Given the description of an element on the screen output the (x, y) to click on. 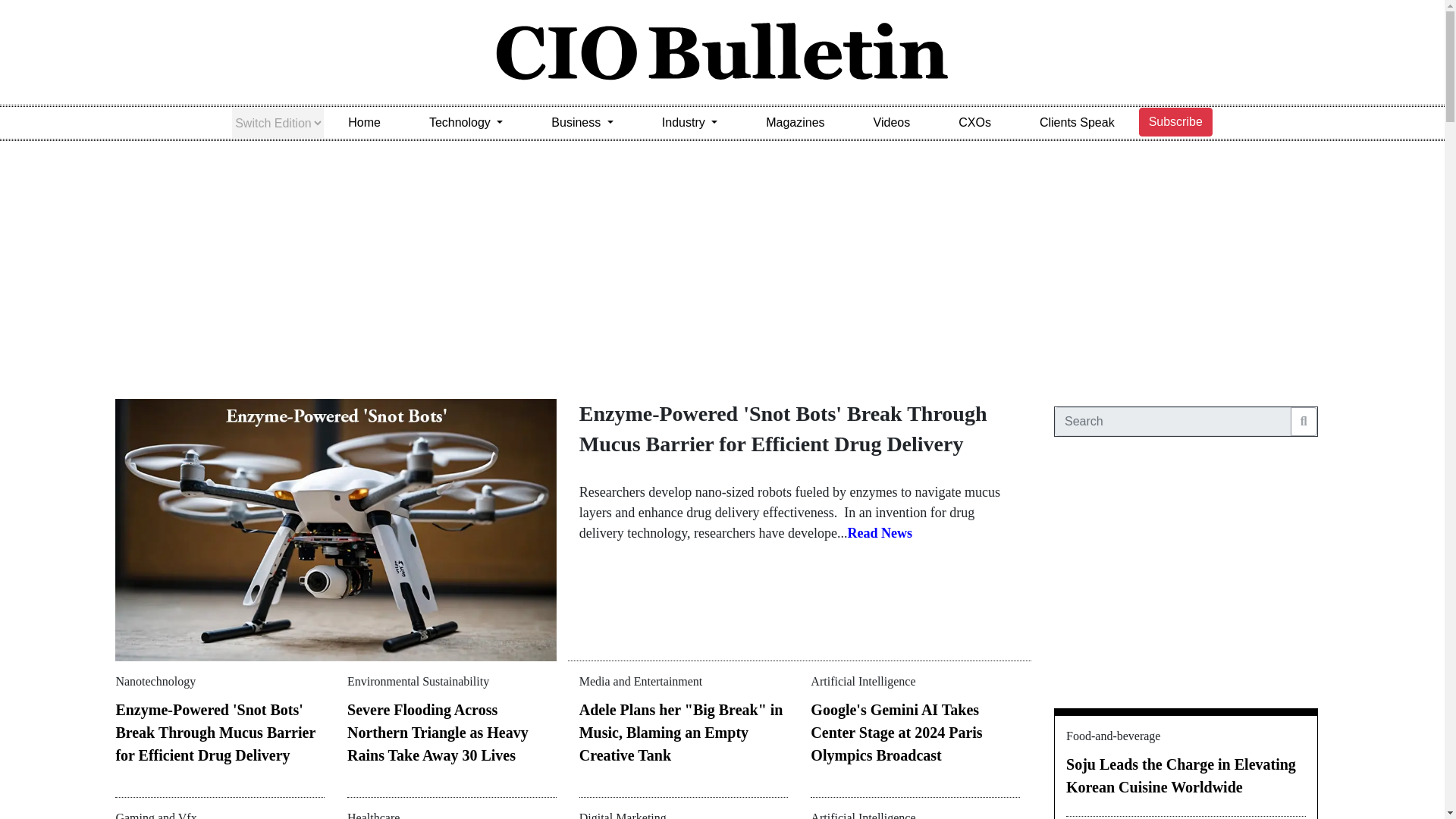
Business (582, 122)
Advertisement (1185, 579)
Industry (689, 122)
Technology (465, 122)
Home (363, 122)
